Given the description of an element on the screen output the (x, y) to click on. 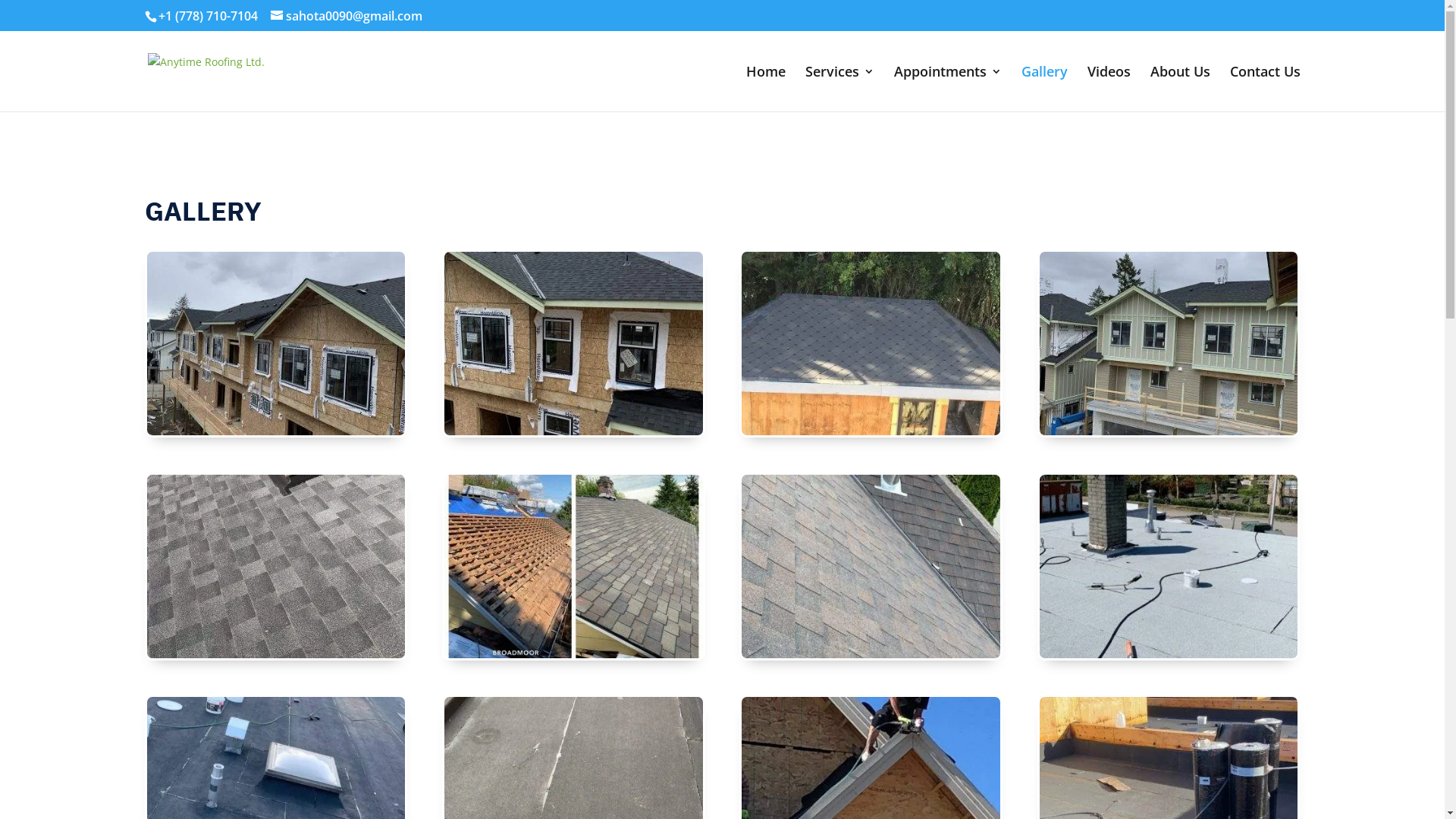
Appointments Element type: text (947, 88)
any time roofing photos (6) Element type: hover (870, 653)
any time roofing photos (13) Element type: hover (276, 430)
Services Element type: text (839, 88)
+1 (778) 710-7104 Element type: text (207, 15)
any time roofing photos (7) Element type: hover (573, 653)
any time roofing photos (5) Element type: hover (1168, 653)
Videos Element type: text (1108, 88)
sahota0090@gmail.com Element type: text (345, 15)
About Us Element type: text (1179, 88)
Home Element type: text (765, 88)
any time roofing photos (11) Element type: hover (573, 430)
any time roofing photos (8) Element type: hover (276, 653)
any time roofing photos (12) Element type: hover (1168, 430)
Contact Us Element type: text (1265, 88)
Gallery Element type: text (1043, 88)
any time roofing photos (9) Element type: hover (870, 430)
